Given the description of an element on the screen output the (x, y) to click on. 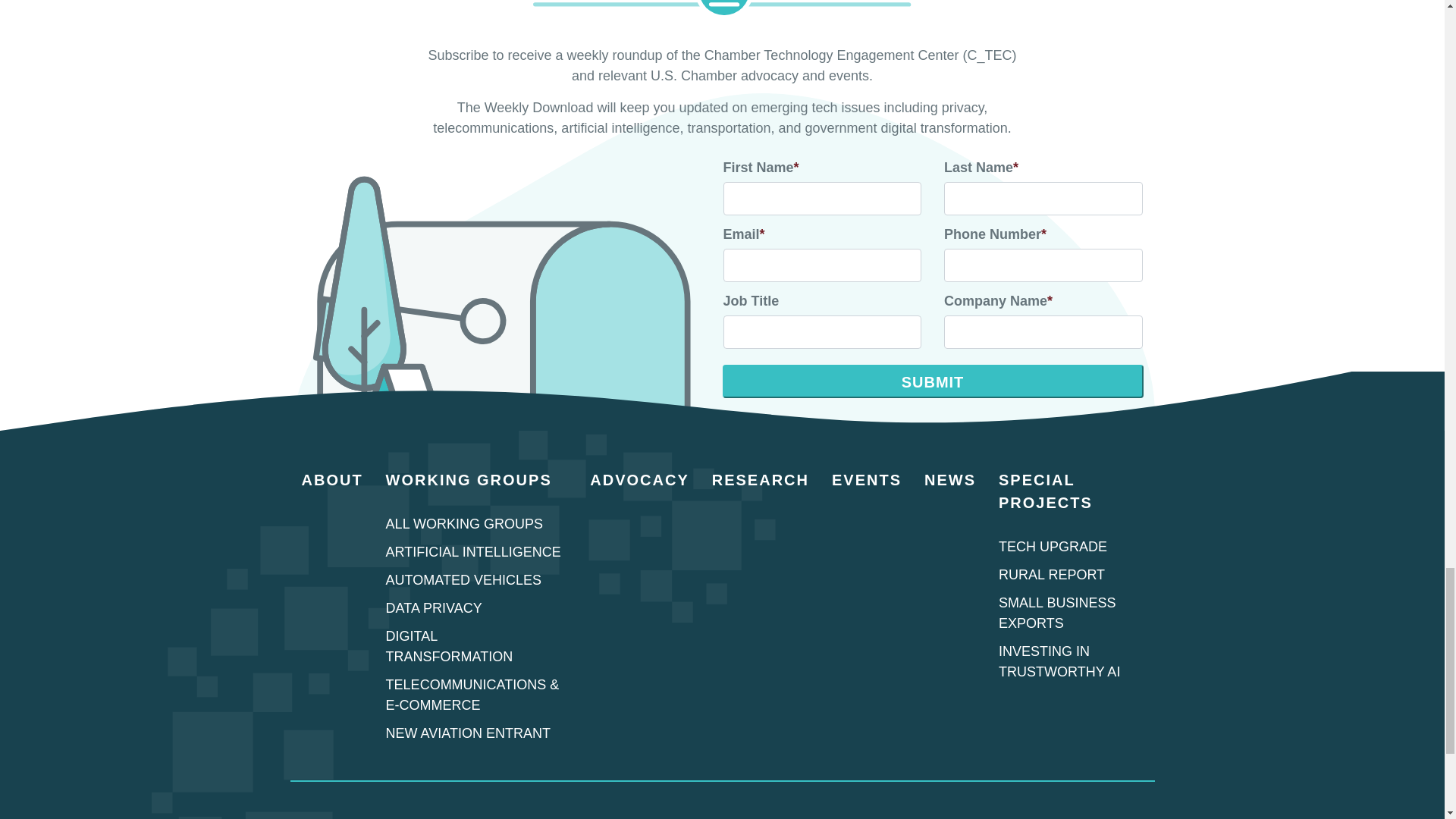
Email (822, 264)
Job Title (822, 331)
Last Name (1042, 198)
Company Name (1042, 331)
First Name (822, 198)
Phone Number (1042, 264)
Submit (932, 381)
